Given the description of an element on the screen output the (x, y) to click on. 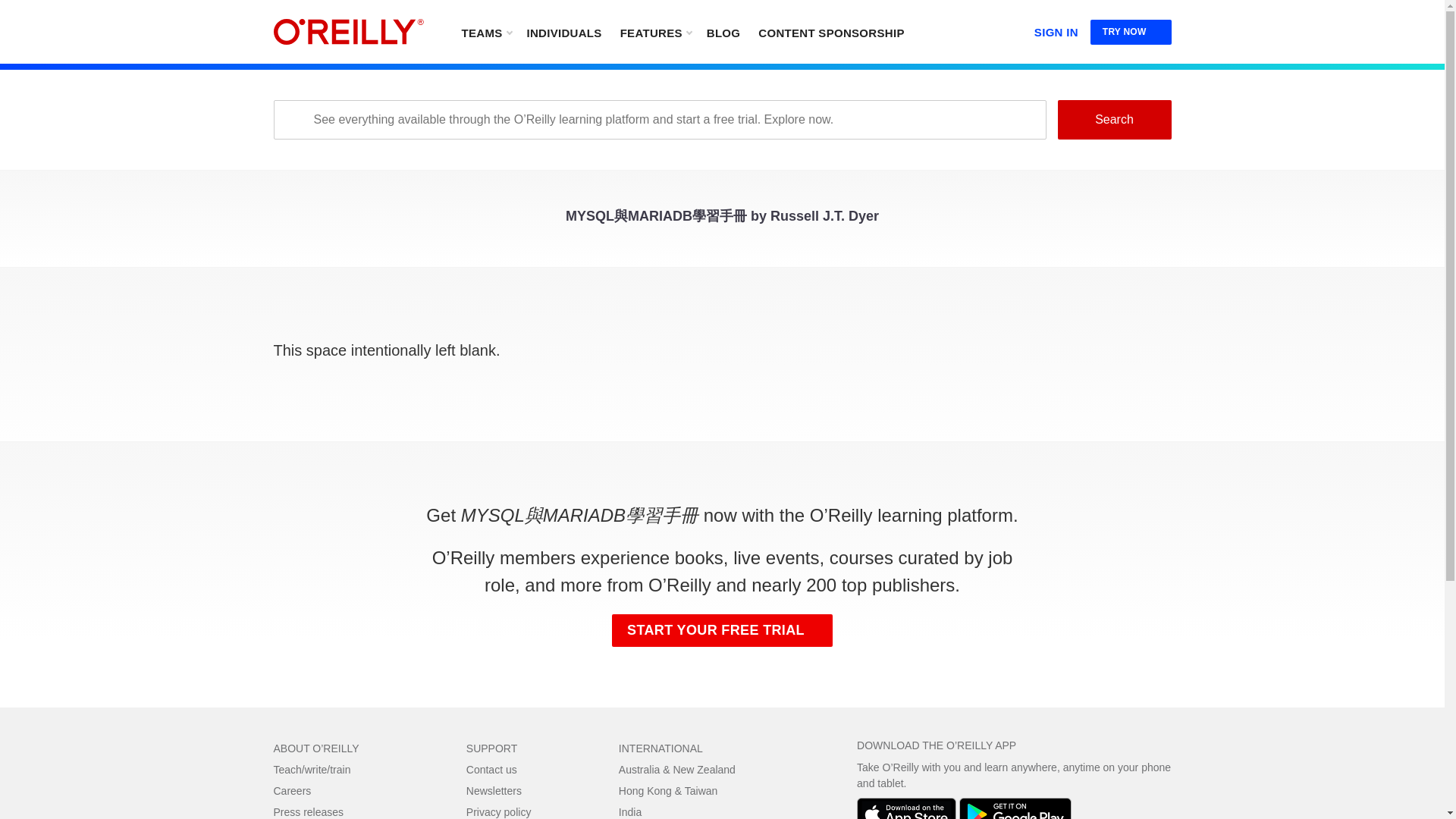
SIGN IN (1055, 29)
TEAMS (486, 31)
Search (1113, 119)
Contact us (490, 769)
Privacy policy (498, 811)
Careers (292, 790)
SUPPORT (490, 748)
Search (1113, 119)
Newsletters (493, 790)
CONTENT SPONSORSHIP (831, 31)
